Given the description of an element on the screen output the (x, y) to click on. 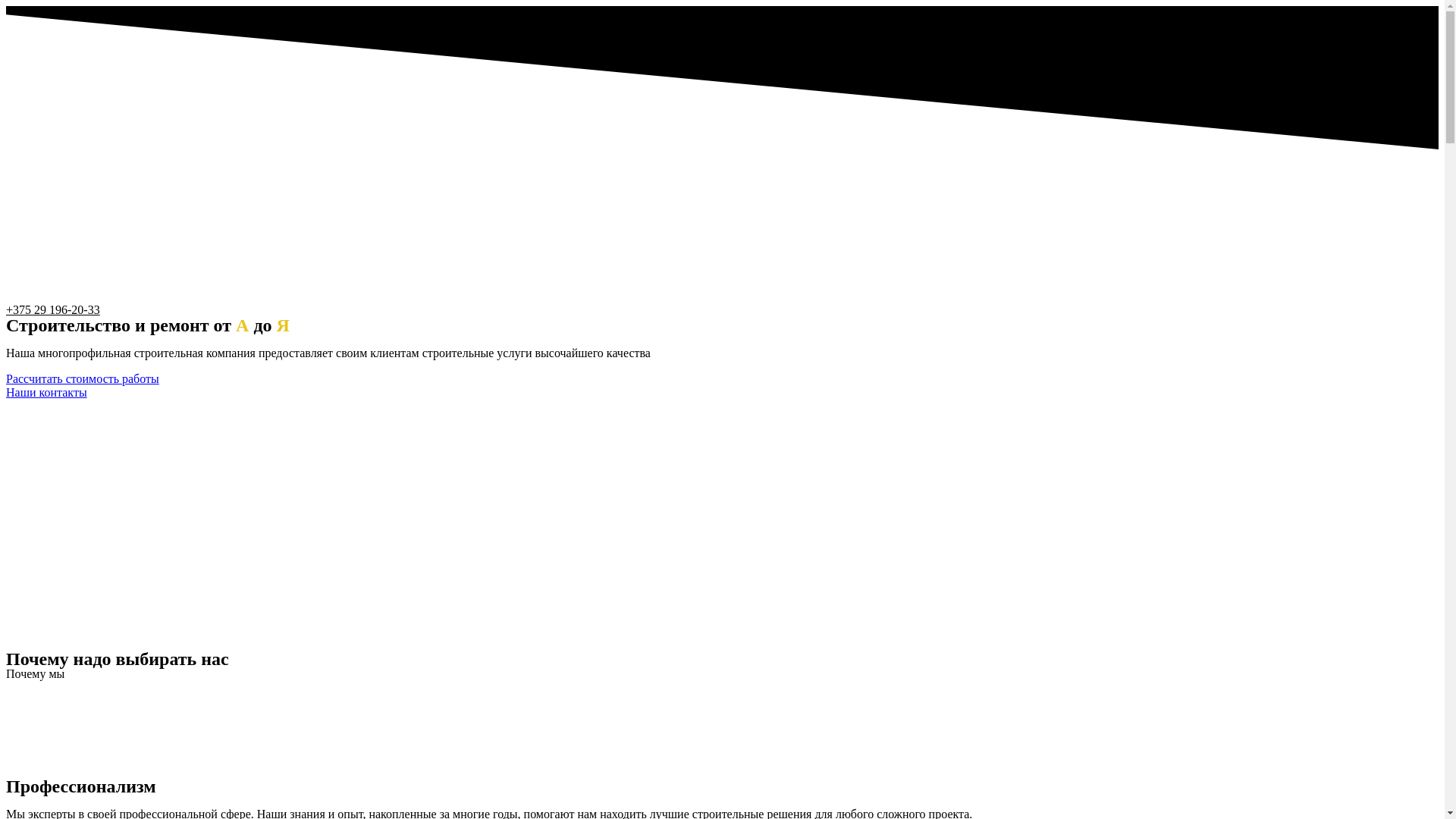
+375 29 196-20-33 Element type: text (53, 309)
